Given the description of an element on the screen output the (x, y) to click on. 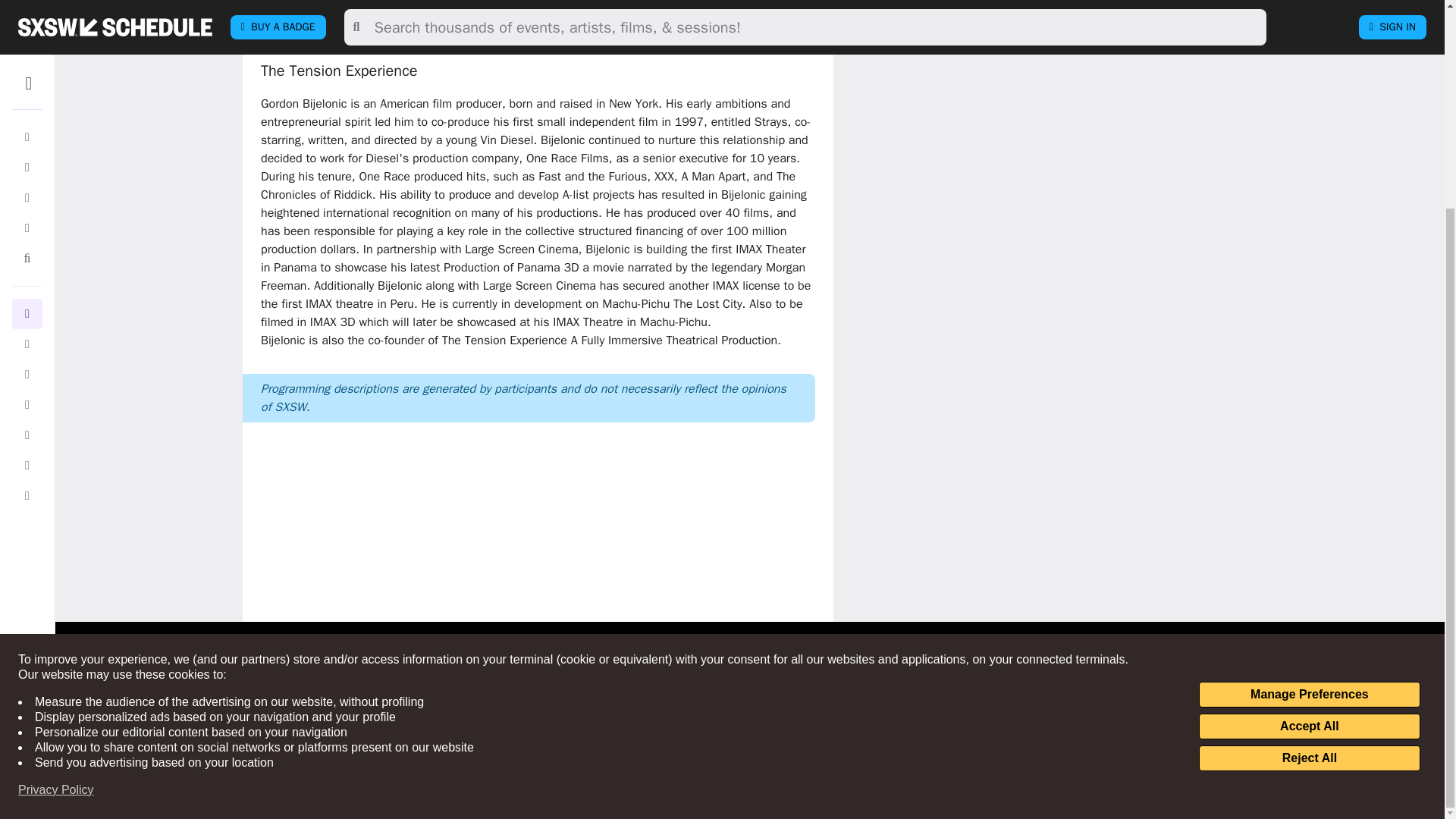
Privacy Policy (55, 519)
Accept All (1309, 456)
Manage Preferences (1309, 424)
Reject All (1309, 488)
